Given the description of an element on the screen output the (x, y) to click on. 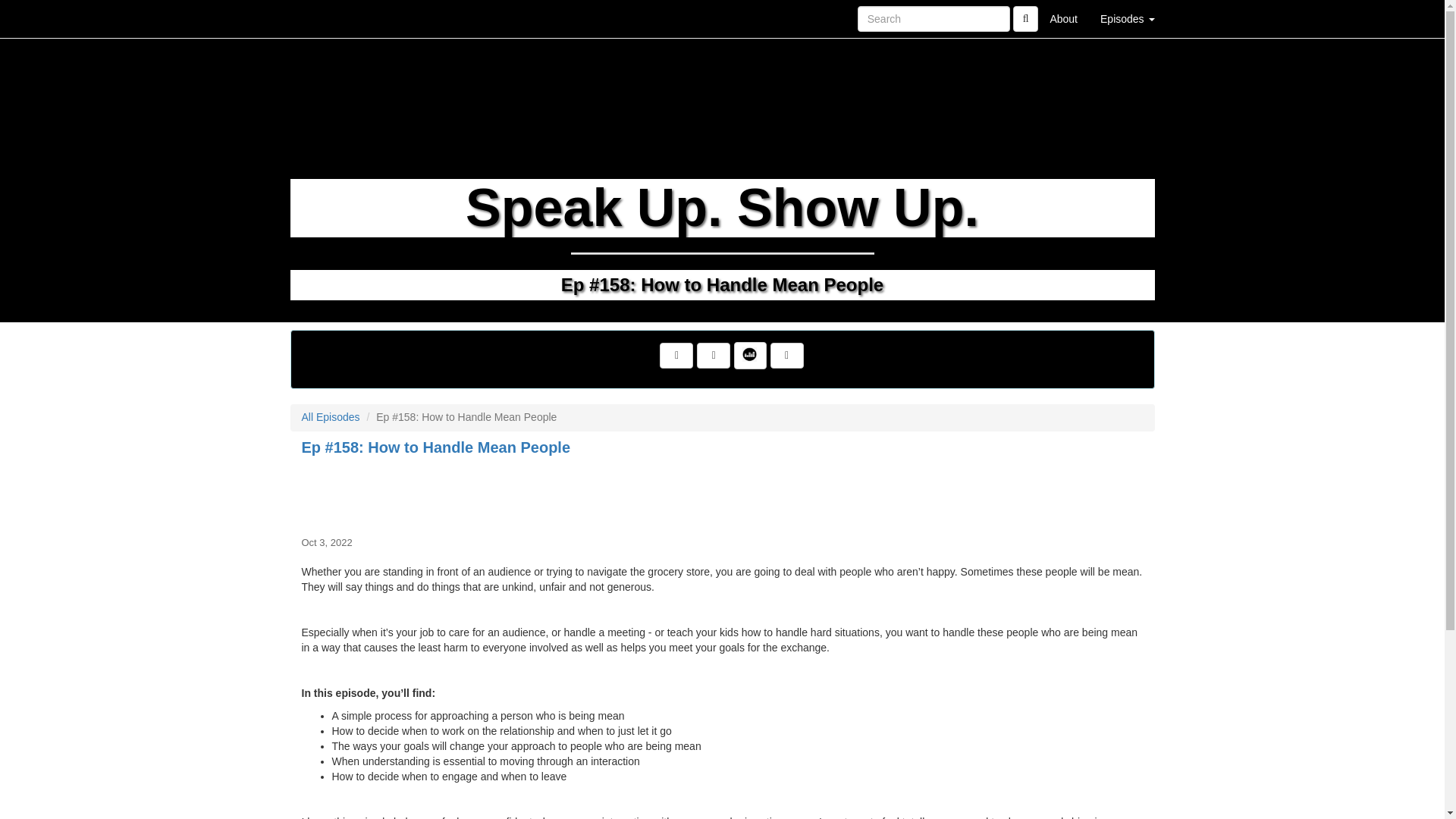
Listen on Deezer (749, 355)
Visit Us on Facebook (676, 355)
About (1063, 18)
Episodes (1127, 18)
Listen on Spotify (786, 355)
Subscribe to RSS Feed (713, 355)
Home Page (320, 18)
